Given the description of an element on the screen output the (x, y) to click on. 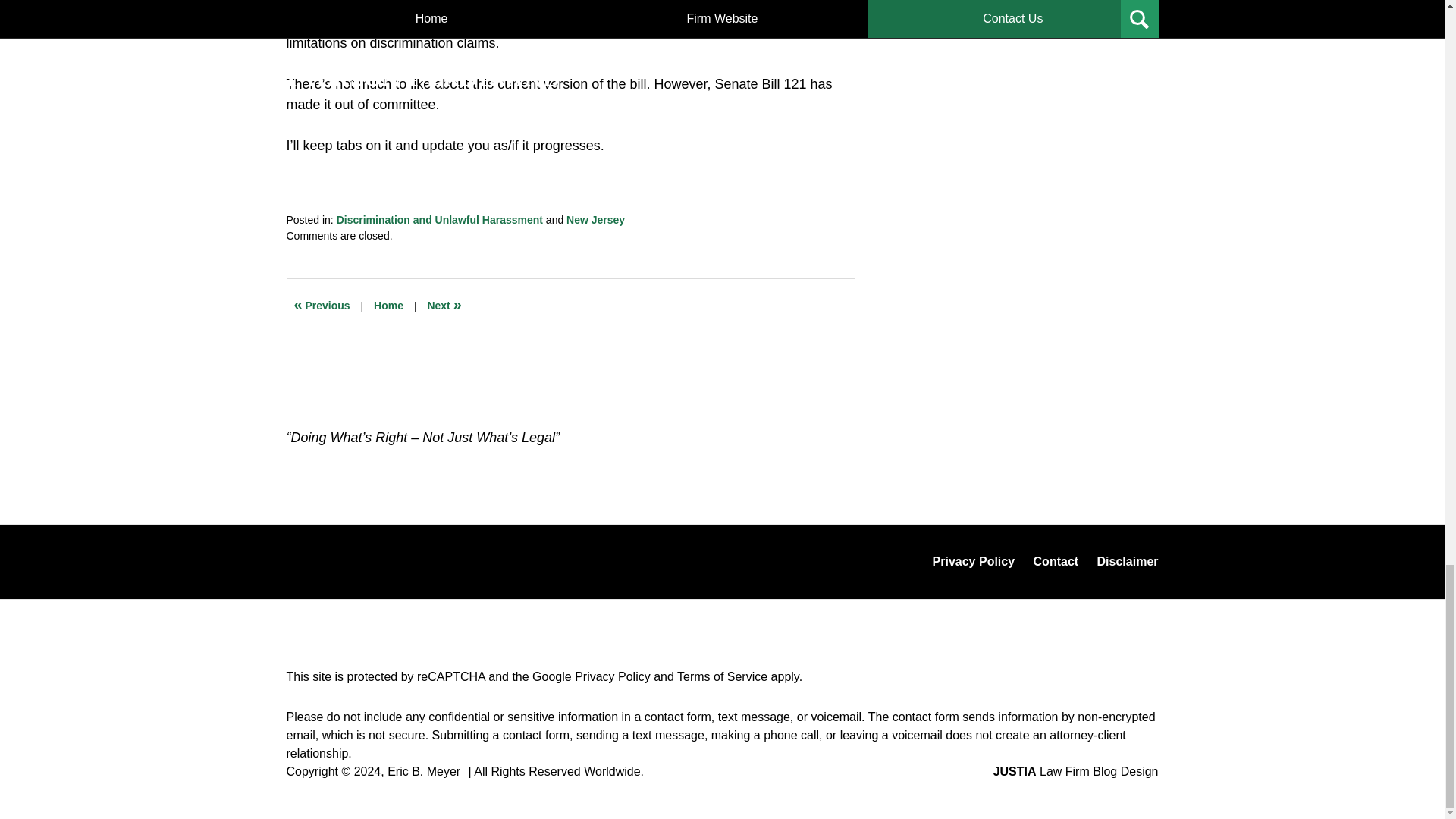
View all posts in Discrimination and Unlawful Harassment (439, 219)
Privacy Policy (612, 676)
View all posts in New Jersey (595, 219)
Discrimination and Unlawful Harassment (439, 219)
Home (388, 306)
Contact (1056, 561)
Disclaimer (1127, 561)
Eric B. Meyer (423, 771)
Terms of Service (722, 676)
Privacy Policy (973, 561)
JUSTIA Law Firm Blog Design (1075, 771)
New Jersey (595, 219)
